Given the description of an element on the screen output the (x, y) to click on. 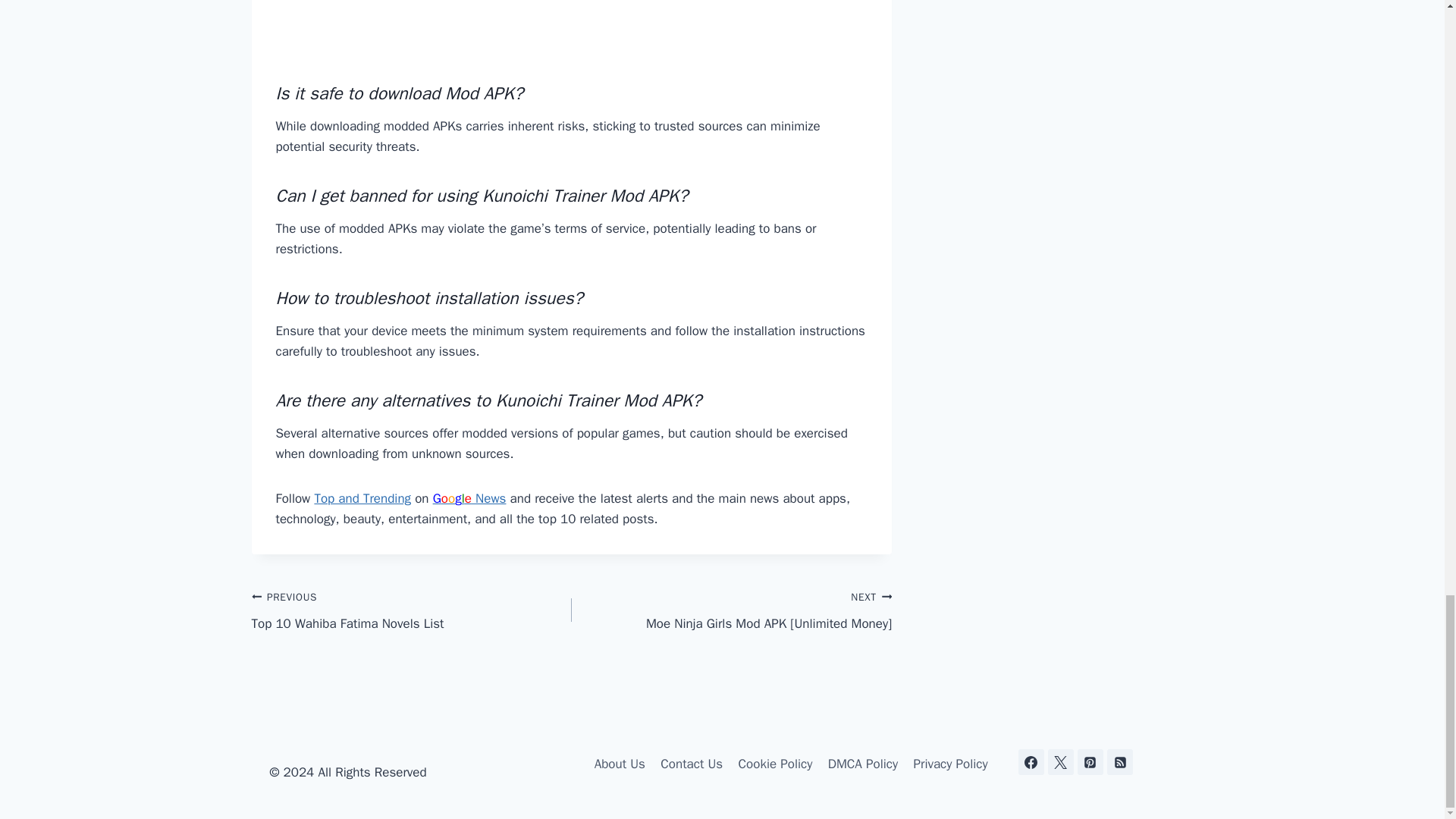
Google News (469, 498)
Top and Trending (362, 498)
